Given the description of an element on the screen output the (x, y) to click on. 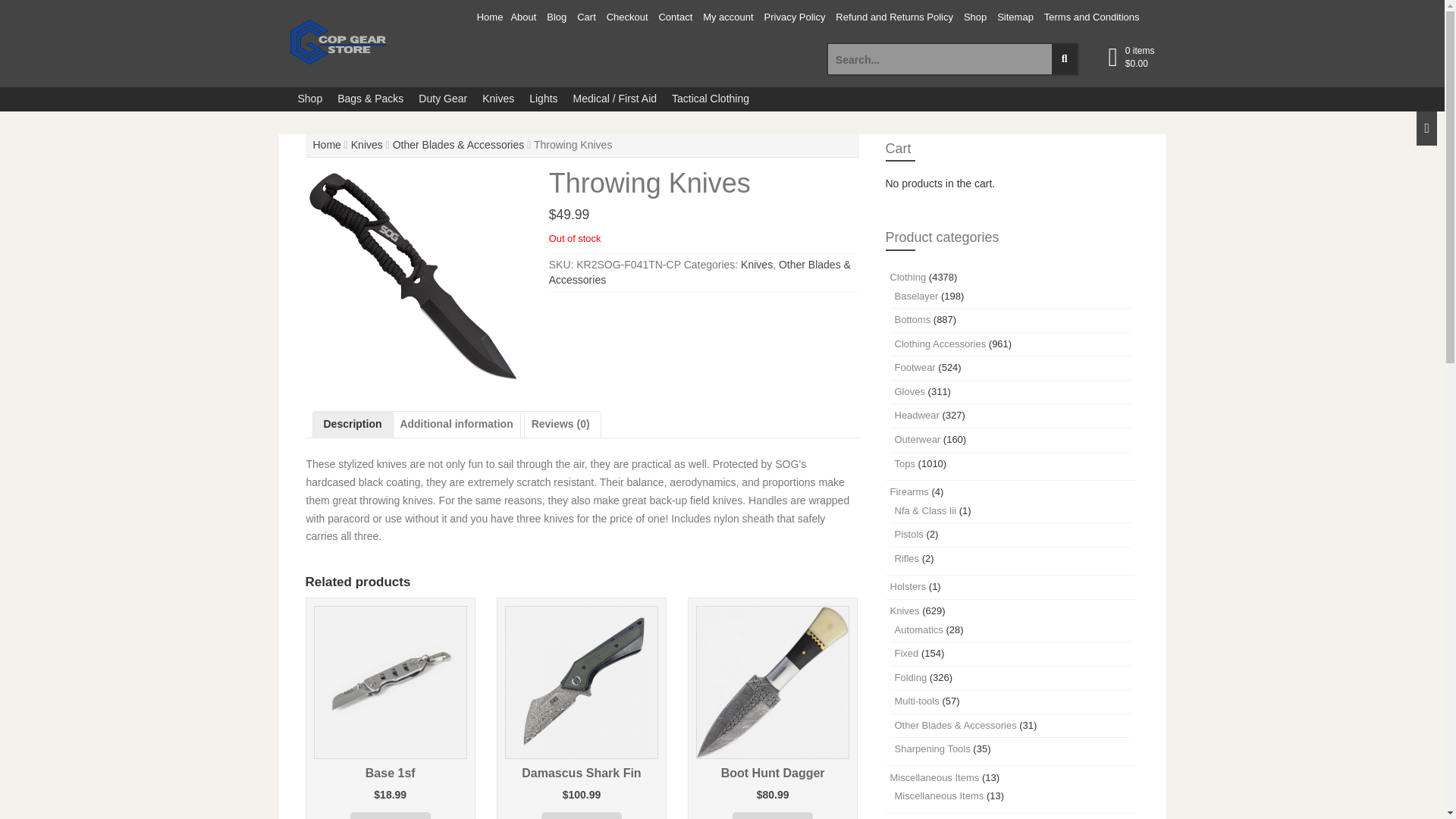
View your shopping cart (1139, 57)
Additional information (455, 424)
Knives (497, 98)
Knives (366, 144)
Contact (674, 17)
Lights (542, 98)
Blog (556, 17)
Knives (757, 264)
Shop (974, 17)
Tactical Clothing (710, 98)
Duty Gear (442, 98)
Home (326, 144)
Shop (309, 98)
Add to cart (581, 815)
Add to cart (390, 815)
